Given the description of an element on the screen output the (x, y) to click on. 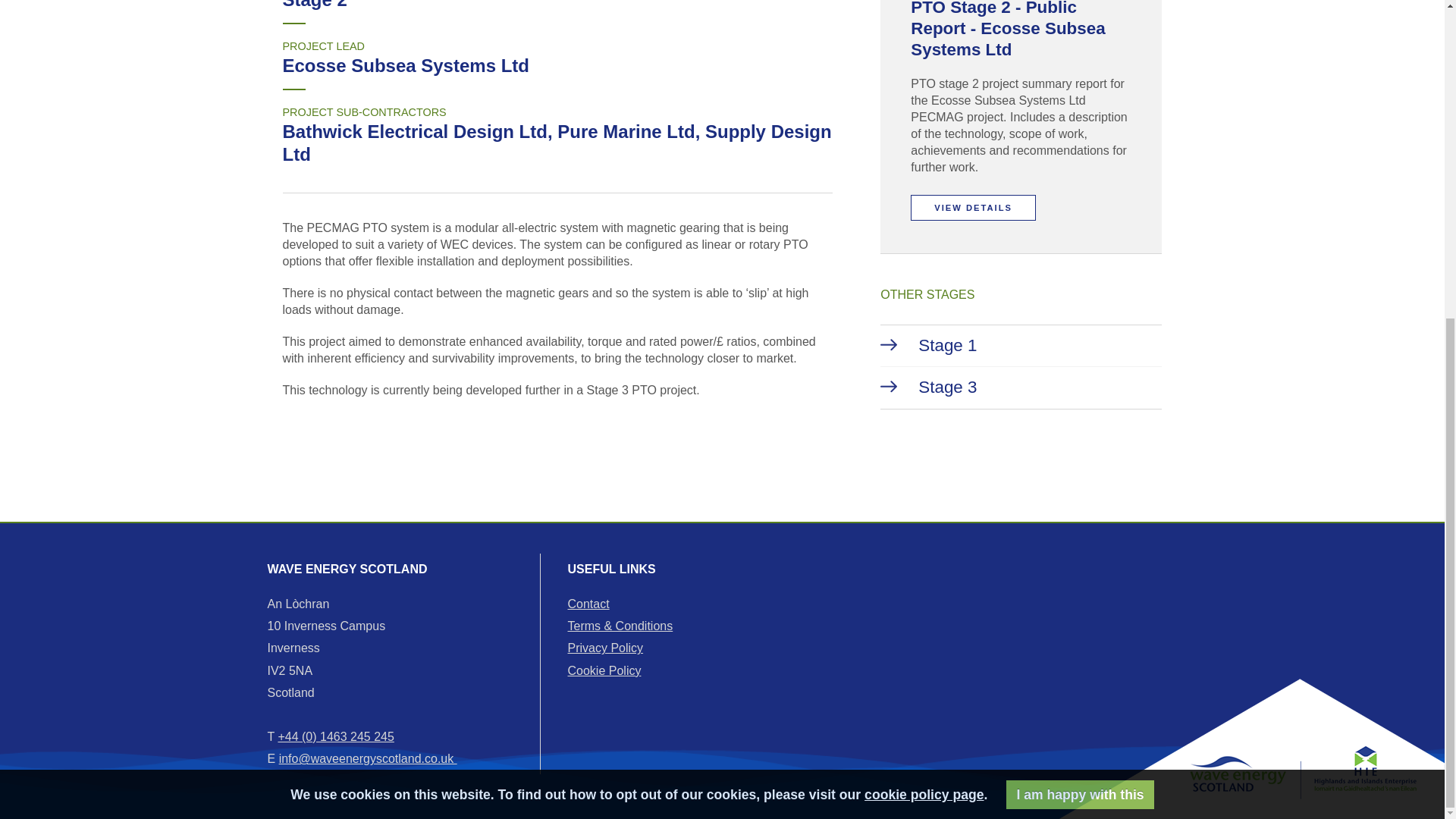
Stage 1 (1020, 346)
Stage 3 (1020, 387)
Contact (587, 603)
VIEW DETAILS (973, 207)
cookie policy page (924, 281)
cookie policy page (924, 281)
PTO Stage 2 - Public Report - Ecosse Subsea Systems Ltd (1008, 29)
I am happy with this (1080, 280)
